Given the description of an element on the screen output the (x, y) to click on. 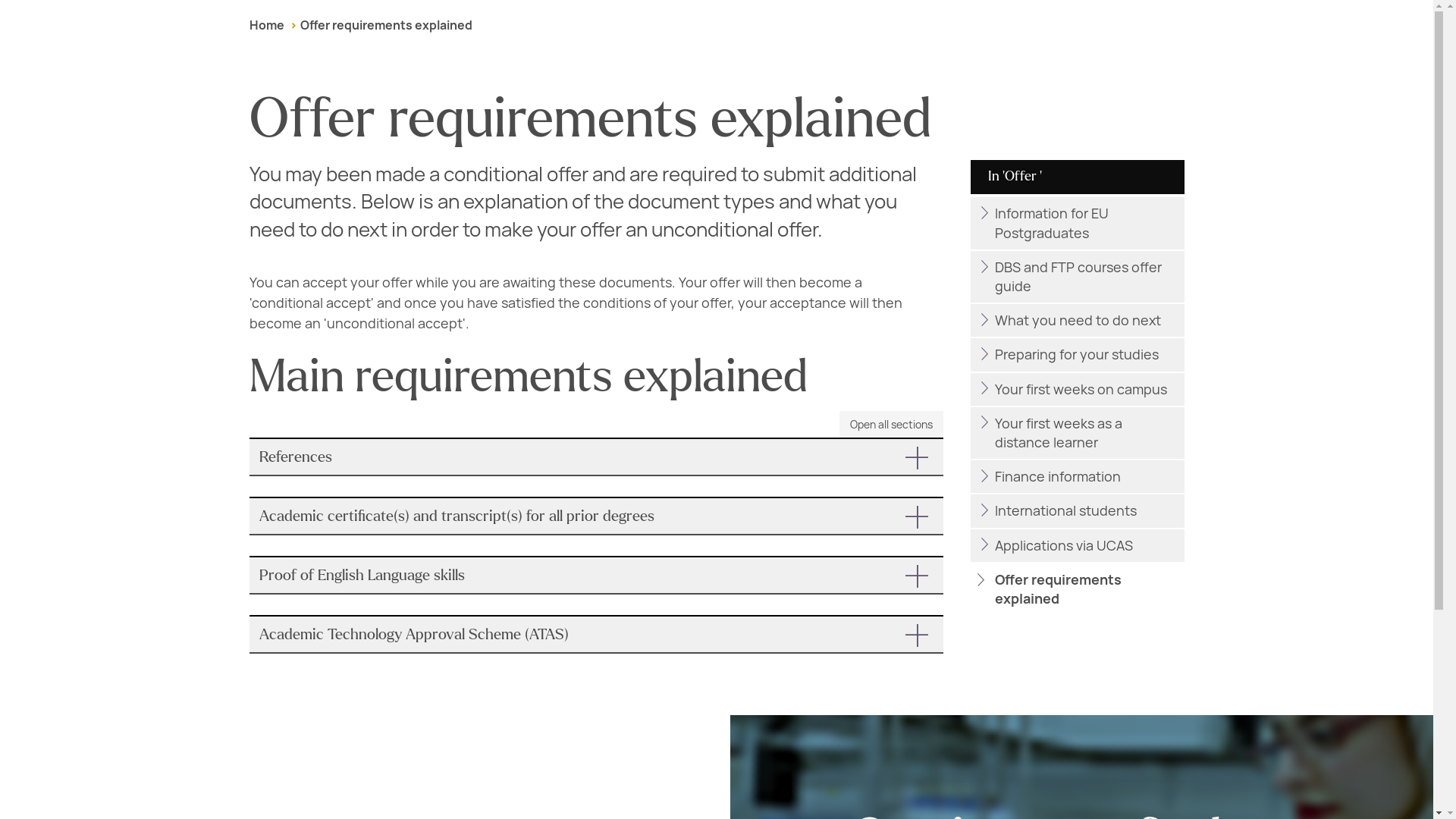
Open all sections (891, 424)
Your first weeks on campus (1077, 389)
Information for EU Postgraduates (1077, 222)
Finance information (1077, 476)
Preparing for your studies (1077, 354)
Applications via UCAS (1077, 545)
International students (1077, 510)
Offer requirements explained (385, 25)
Home (265, 25)
DBS and FTP courses offer guide (1077, 276)
